Given the description of an element on the screen output the (x, y) to click on. 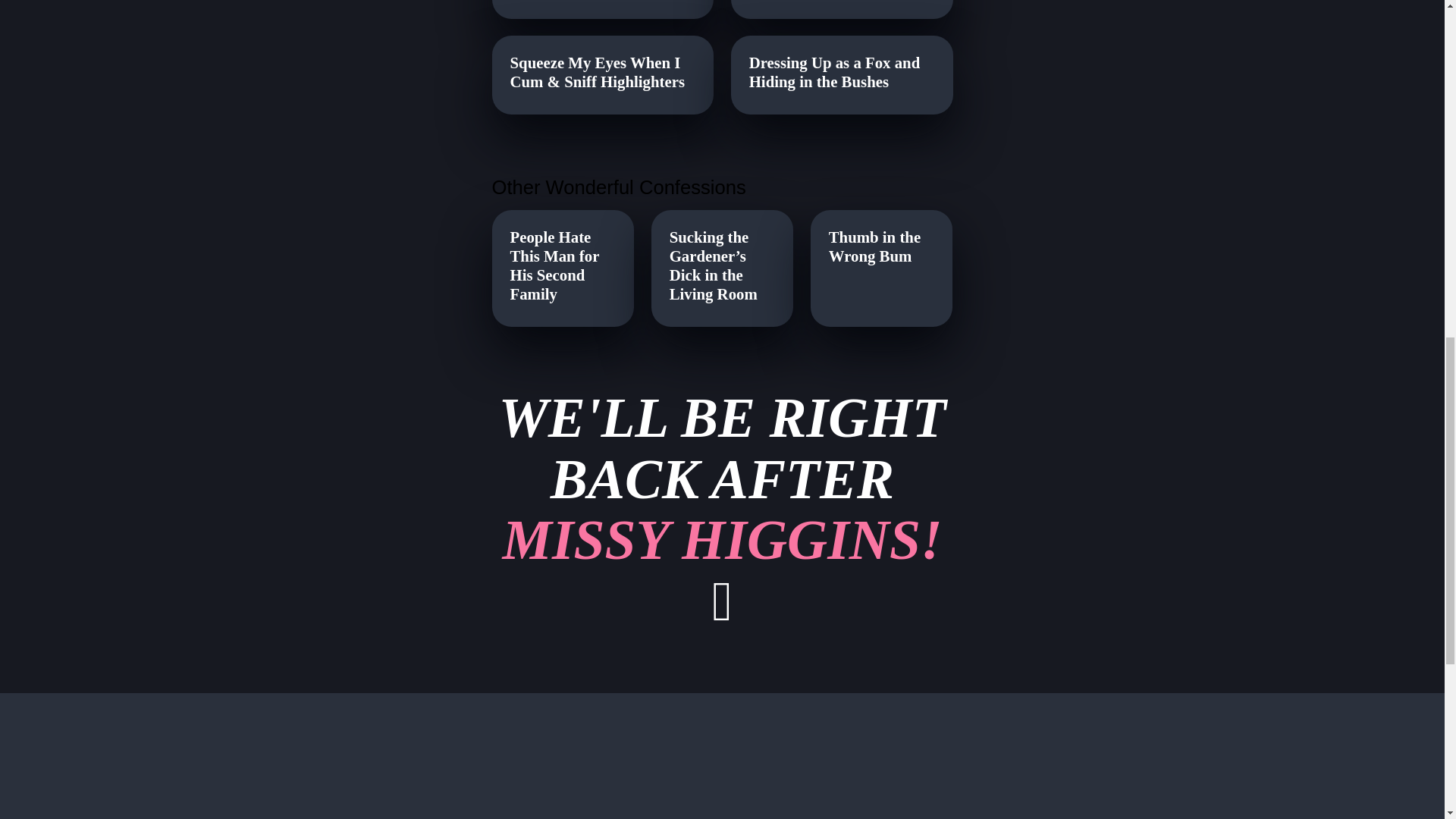
Thumb in the Wrong Bum (881, 247)
People Hate This Man for His Second Family (720, 509)
Dressing Up as a Fox and Hiding in the Bushes (562, 265)
